Given the description of an element on the screen output the (x, y) to click on. 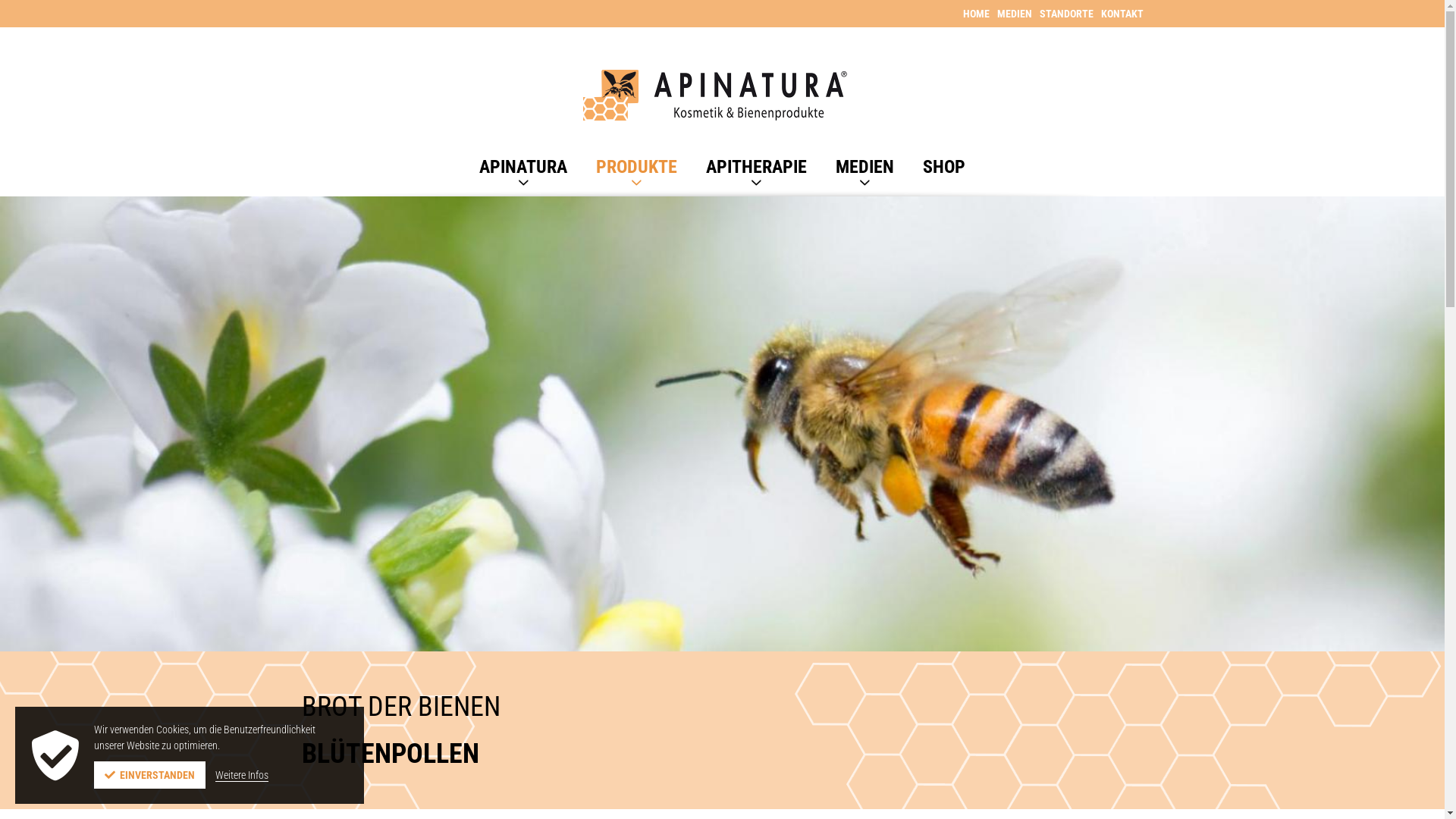
PRODUKTE Element type: text (636, 166)
MEDIEN Element type: text (864, 166)
STANDORTE Element type: text (1061, 13)
APITHERAPIE Element type: text (756, 166)
EINVERSTANDEN Element type: text (149, 774)
HOME Element type: text (972, 13)
APINATURA Element type: text (522, 166)
SHOP Element type: text (943, 166)
KONTAKT Element type: text (1118, 13)
MEDIEN Element type: text (1009, 13)
Weitere Infos Element type: text (241, 775)
